Given the description of an element on the screen output the (x, y) to click on. 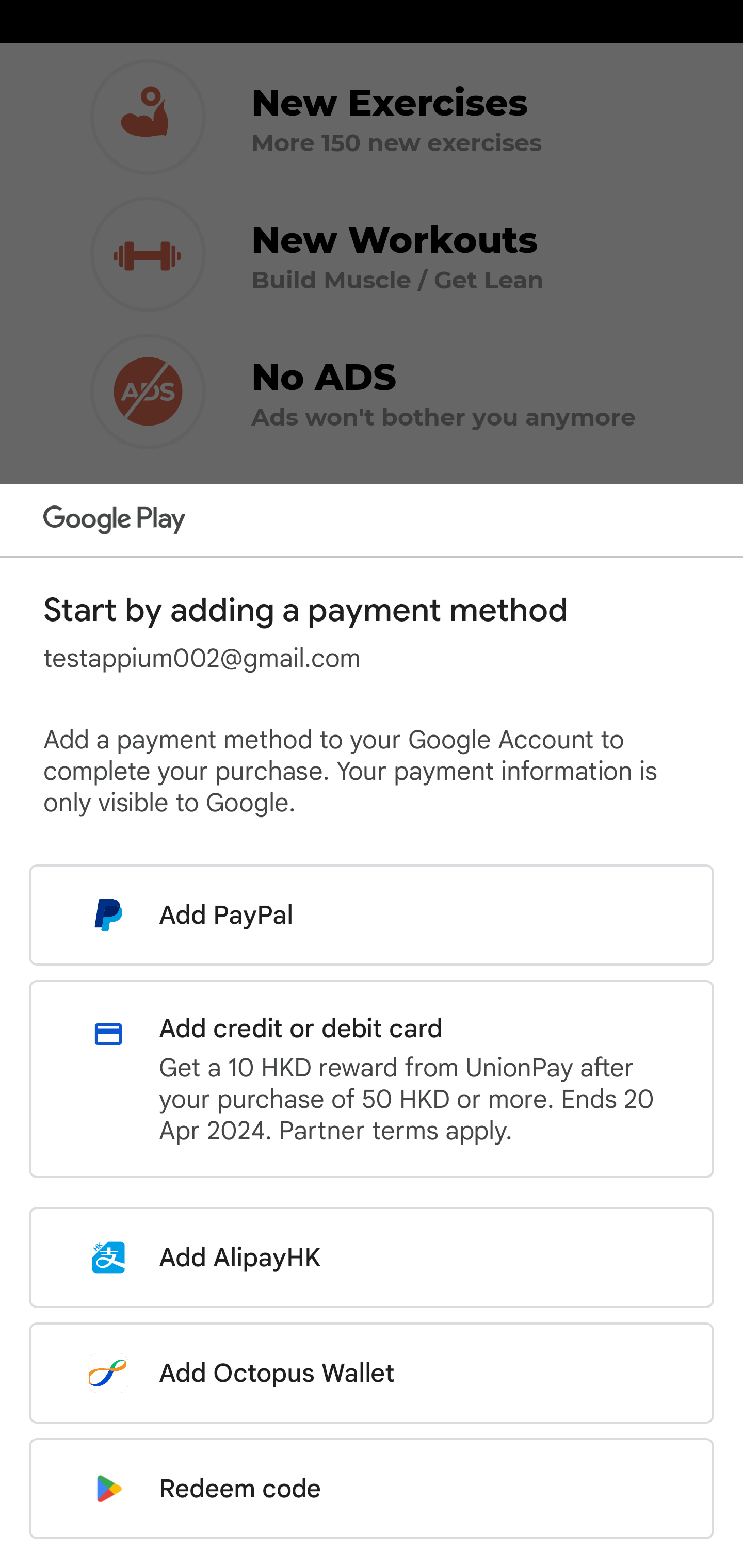
Add PayPal (371, 914)
Add AlipayHK (371, 1257)
Add Octopus Wallet (371, 1372)
Redeem code (371, 1488)
